Given the description of an element on the screen output the (x, y) to click on. 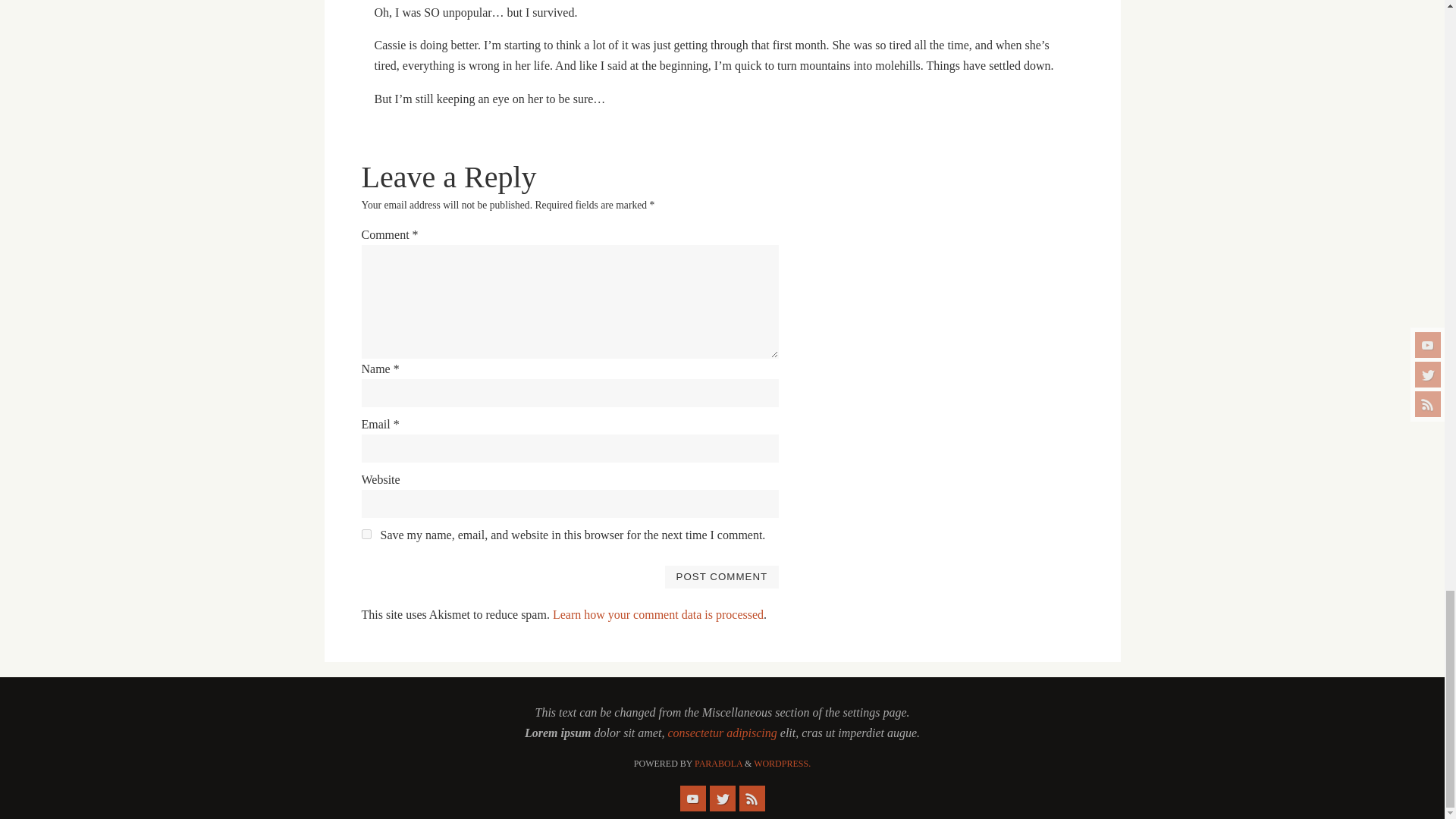
Post Comment (721, 576)
Learn how your comment data is processed (657, 614)
consectetur adipiscing (721, 732)
Post Comment (721, 576)
Parabola Theme by Cryout Creations (718, 763)
Semantic Personal Publishing Platform (782, 763)
RSS (751, 798)
PARABOLA (718, 763)
Twitter (722, 798)
yes (366, 533)
YouTube (691, 798)
WORDPRESS. (782, 763)
